Given the description of an element on the screen output the (x, y) to click on. 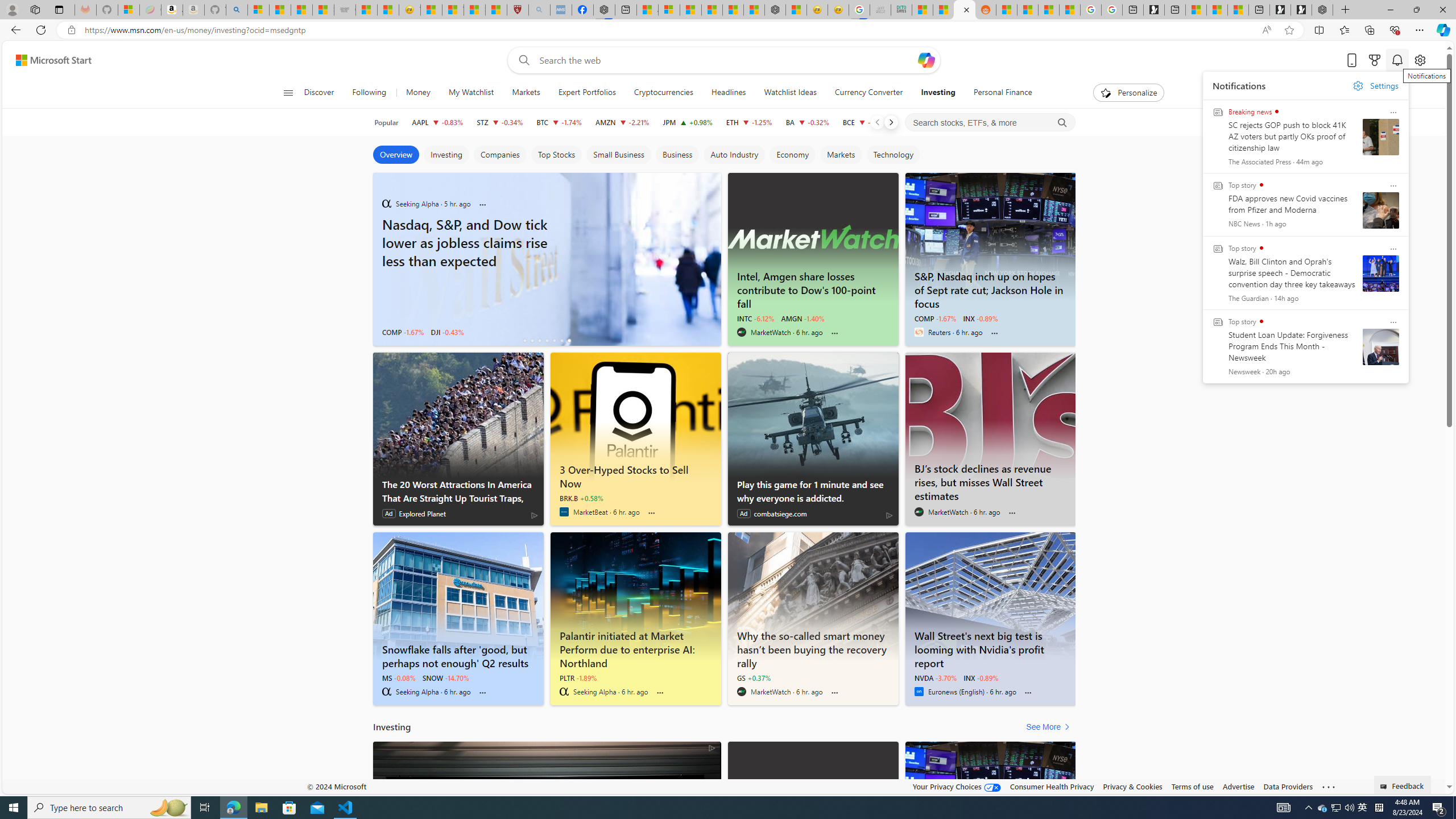
Microsoft account | Privacy (668, 9)
Recipes - MSN (431, 9)
AMGN -1.40% (802, 317)
Popular (386, 121)
Business (676, 154)
Microsoft rewards (1374, 60)
NVDA -3.70% (935, 677)
3 Over-Hyped Stocks to Sell Now - MarketBeat (635, 474)
